Given the description of an element on the screen output the (x, y) to click on. 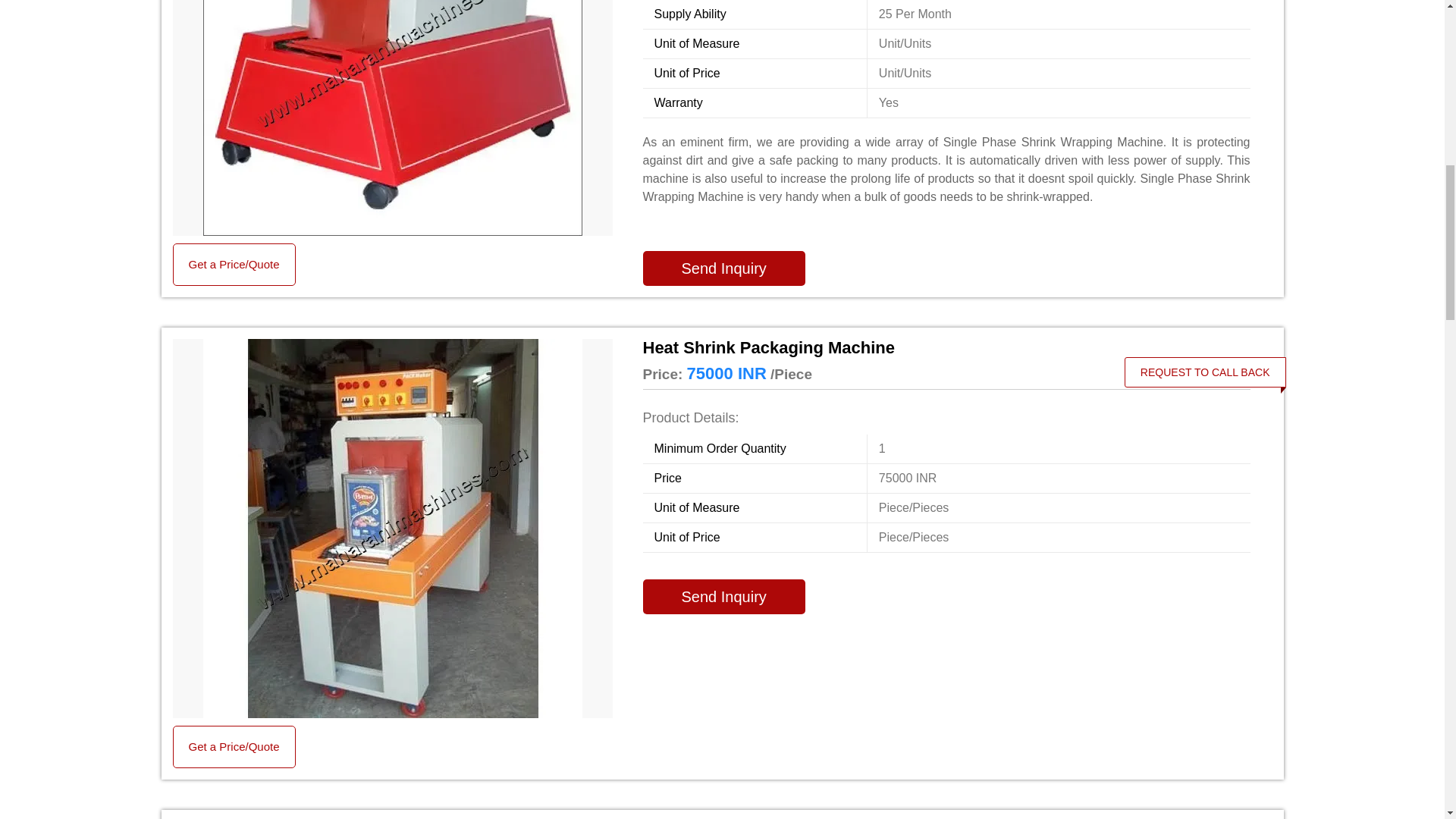
Heat Shrink Packaging Machine (946, 348)
